Given the description of an element on the screen output the (x, y) to click on. 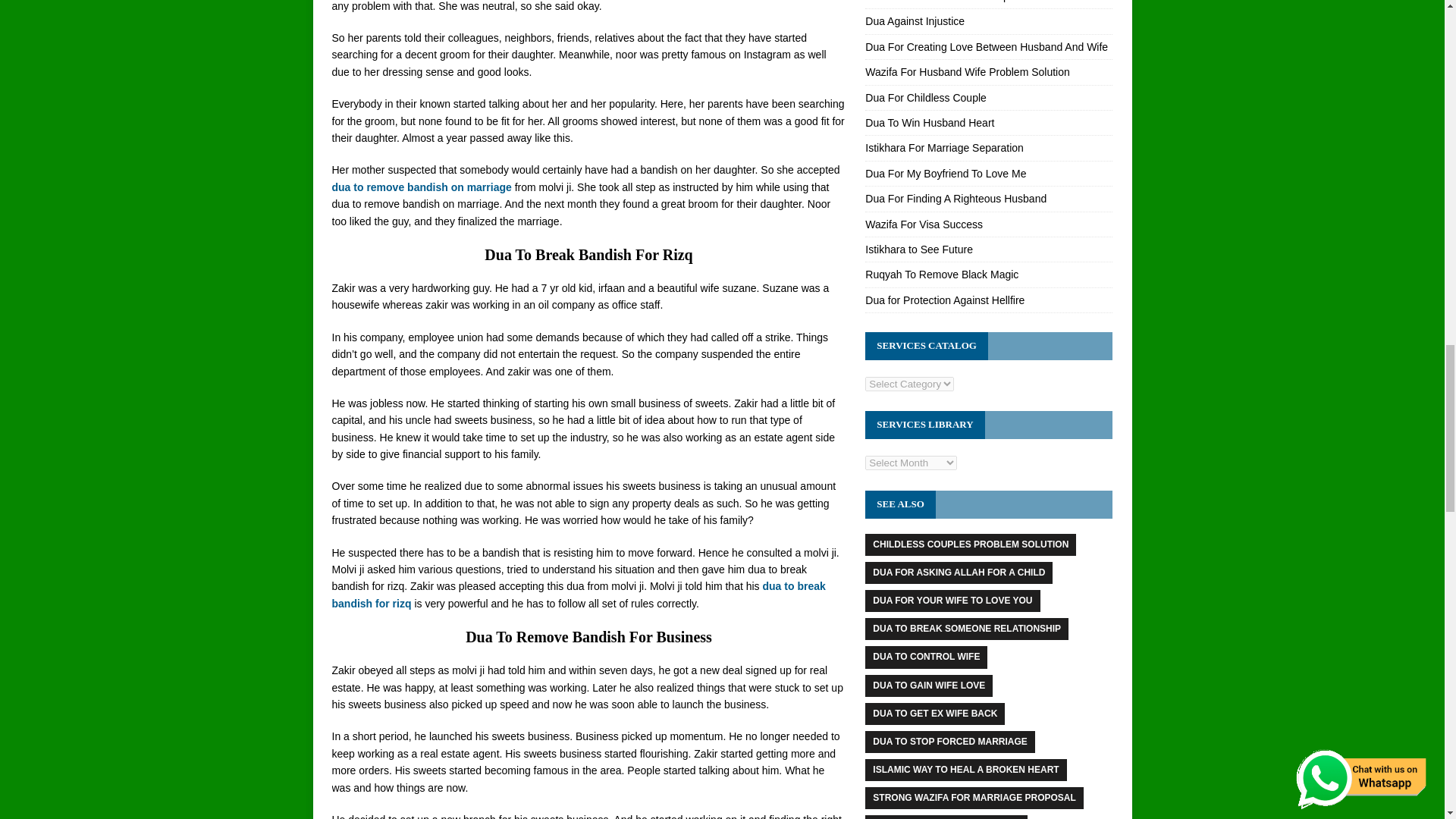
dua to remove bandish on marriage (421, 186)
dua to break bandish for rizq (578, 594)
